Given the description of an element on the screen output the (x, y) to click on. 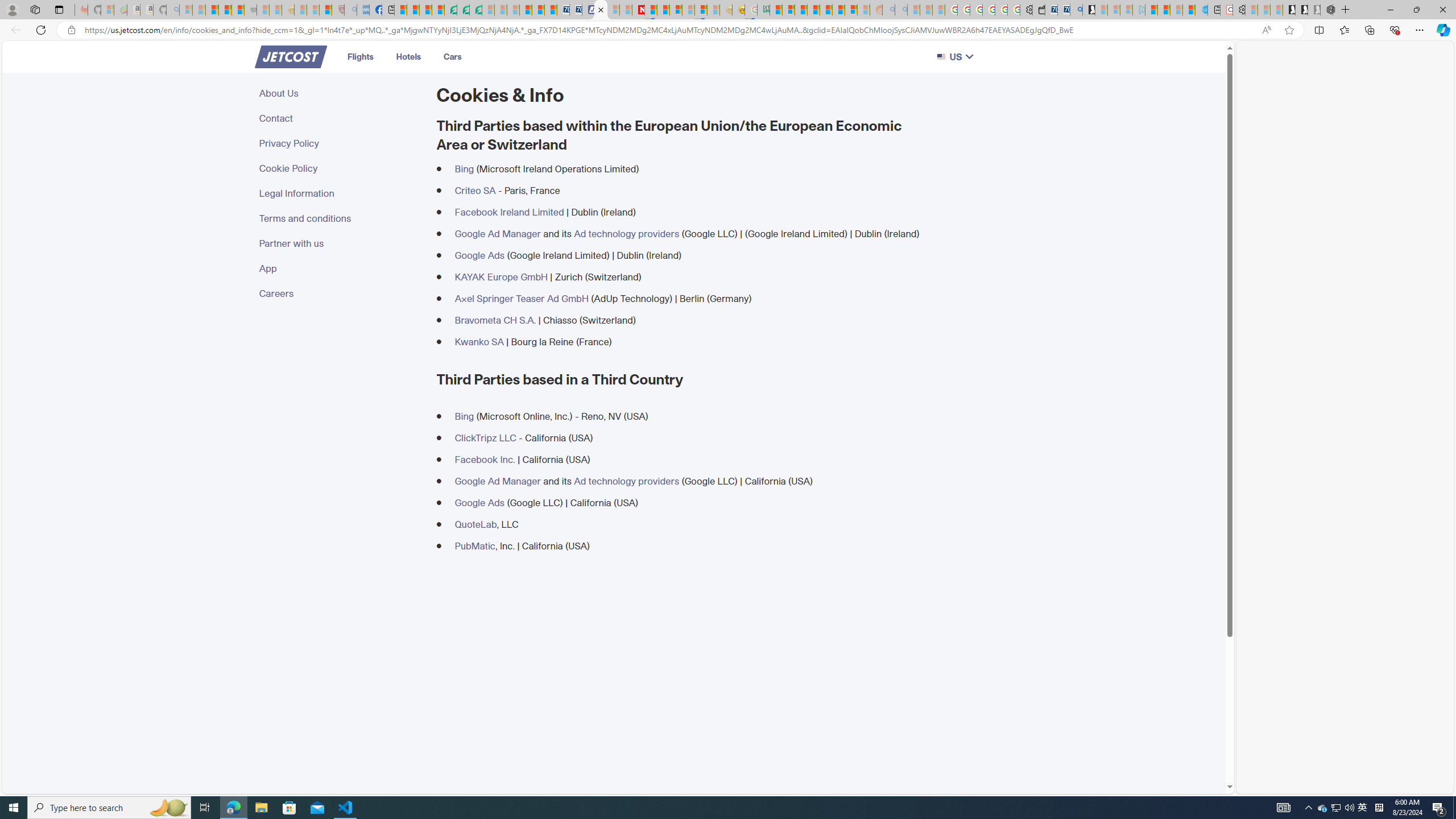
Legal Information (341, 192)
App (341, 268)
App (341, 268)
Cookie Policy (341, 168)
Privacy Policy (341, 142)
